Given the description of an element on the screen output the (x, y) to click on. 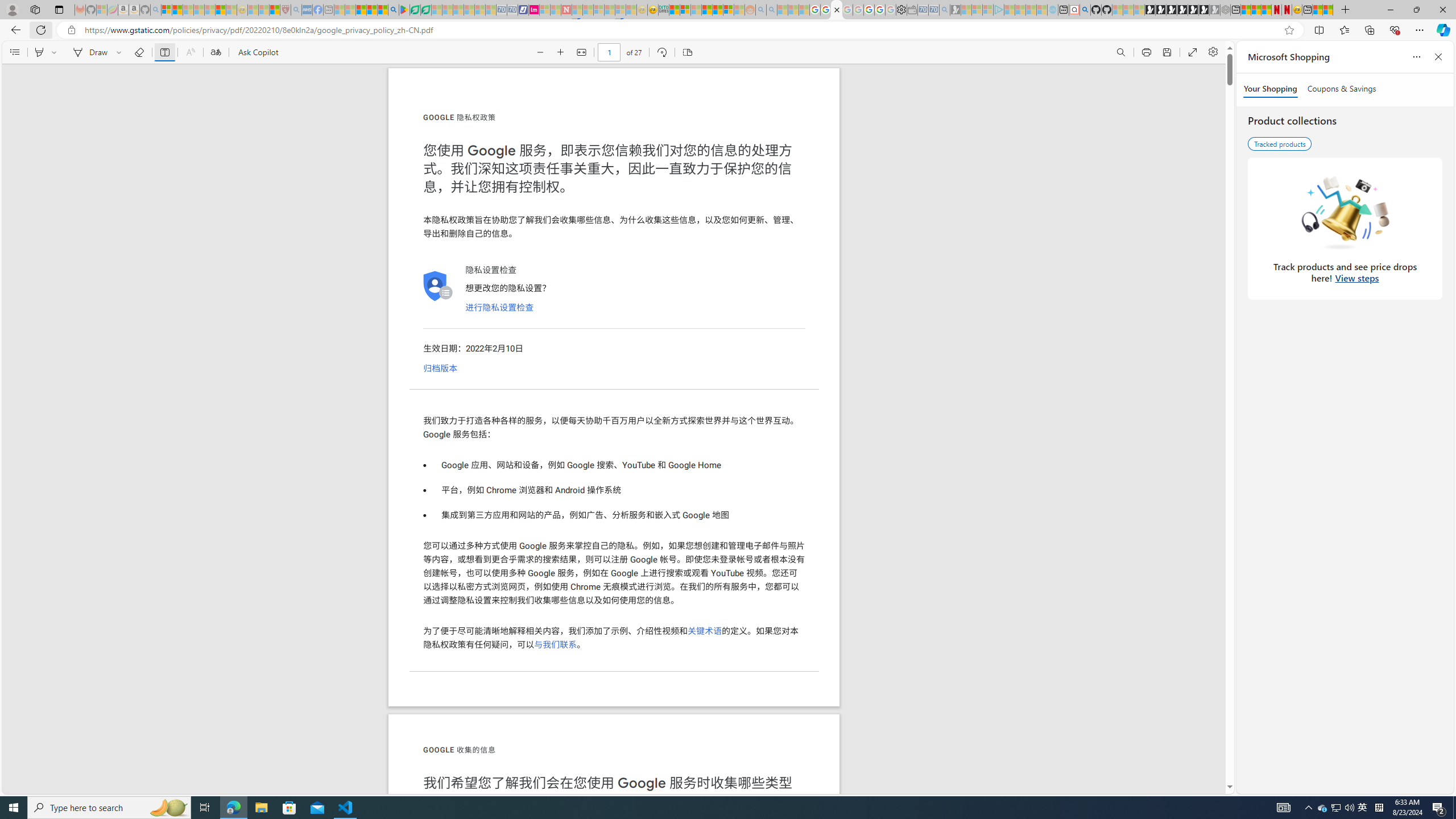
Settings and more (1212, 52)
Enter PDF full screen (1192, 52)
